Given the description of an element on the screen output the (x, y) to click on. 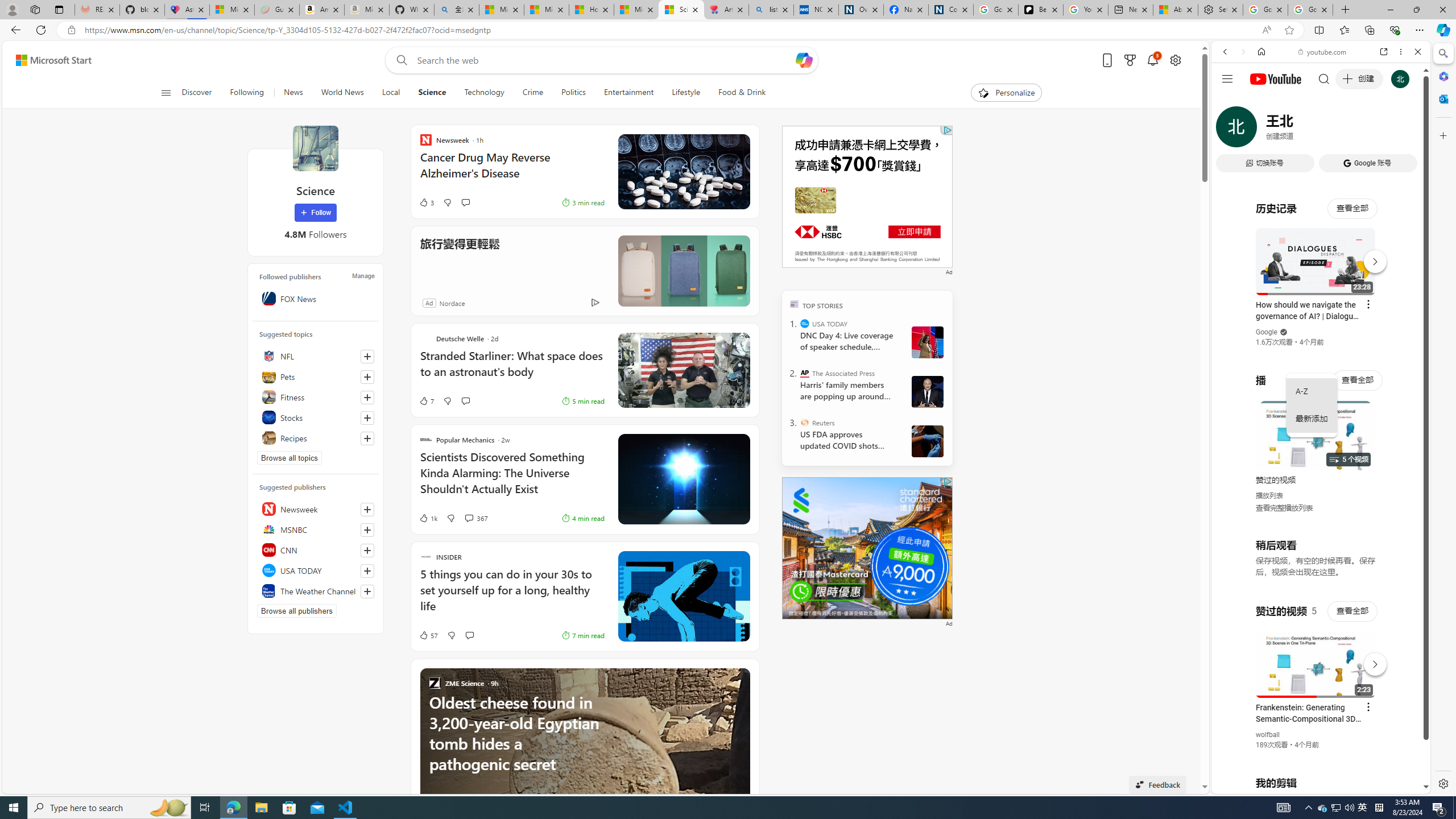
View comments 367 Comment (476, 517)
YouTube (1315, 655)
Music (1320, 309)
CNN (315, 549)
Local (390, 92)
Open navigation menu (164, 92)
Music (1320, 309)
